Given the description of an element on the screen output the (x, y) to click on. 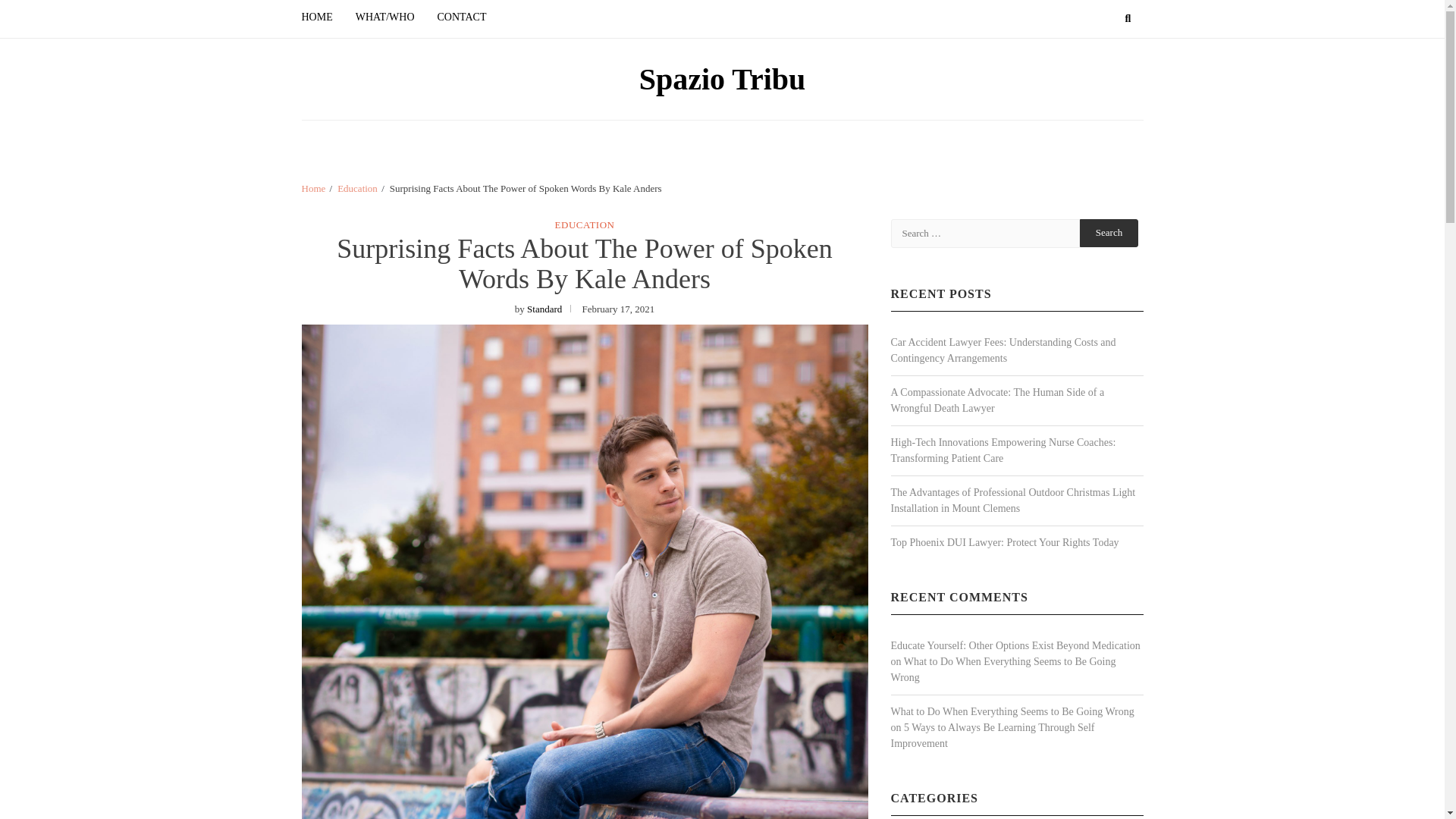
Search (1109, 232)
Spazio Tribu (722, 79)
Search (1109, 232)
Search (1109, 232)
Standard (544, 308)
CONTACT (461, 17)
HOME (322, 17)
Search (1100, 74)
